Given the description of an element on the screen output the (x, y) to click on. 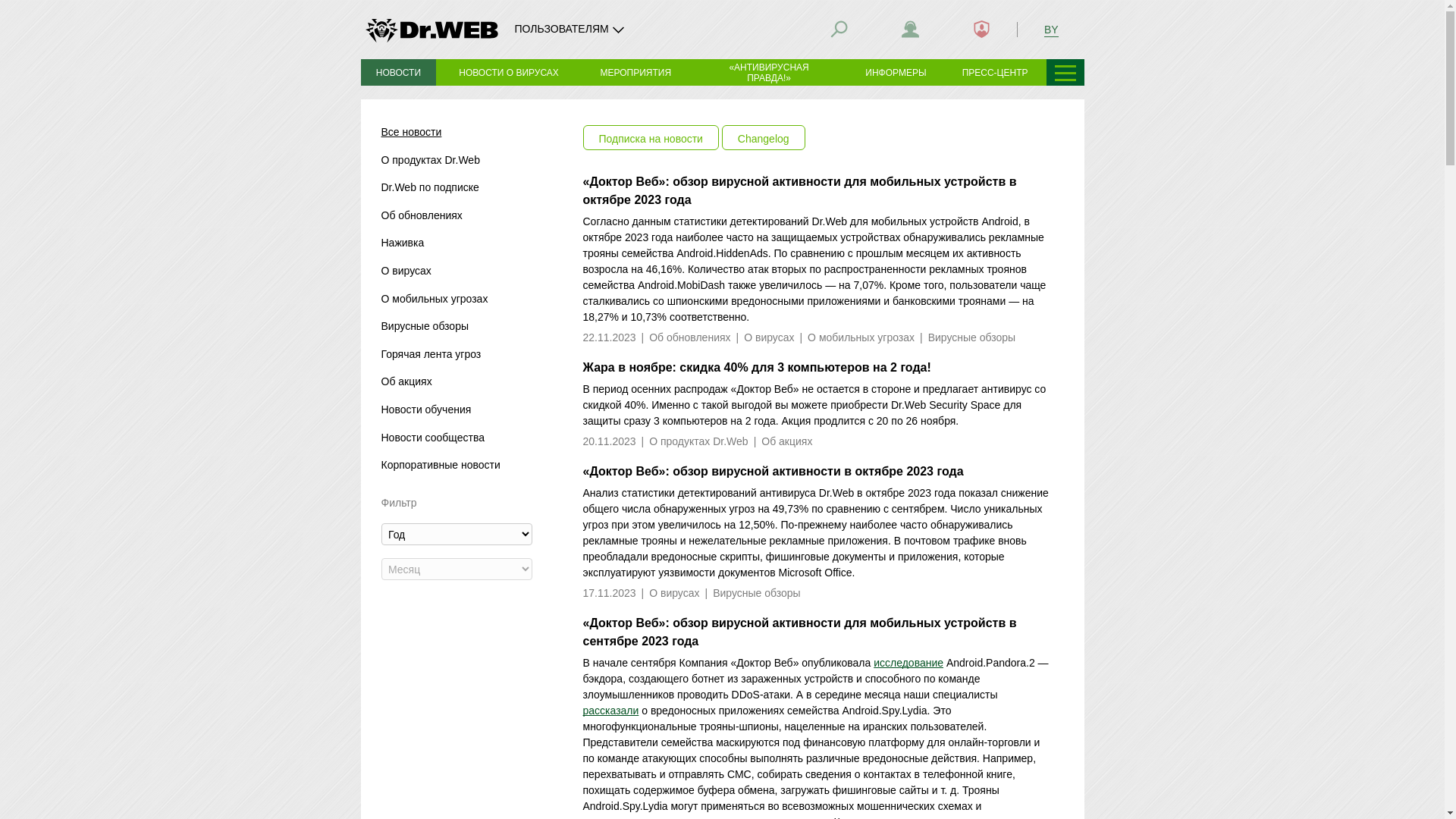
Changelog Element type: text (763, 137)
BY Element type: text (1051, 28)
